Given the description of an element on the screen output the (x, y) to click on. 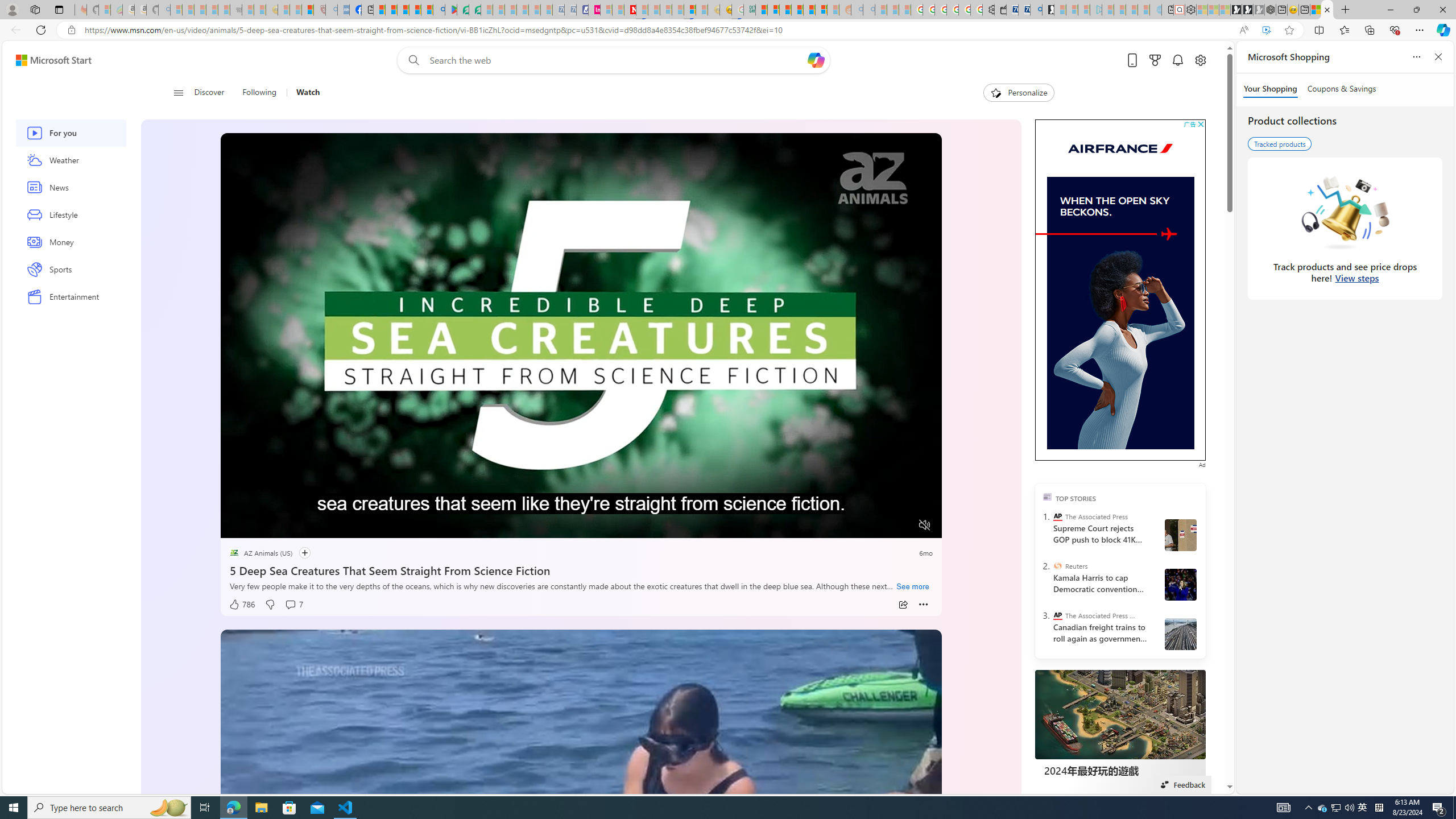
Terms of Use Agreement (462, 9)
The Associated Press - Business News (1057, 614)
Local - MSN (307, 9)
Cheap Hotels - Save70.com - Sleeping (569, 9)
14 Common Myths Debunked By Scientific Facts - Sleeping (654, 9)
Watch (307, 92)
Microsoft account | Privacy - Sleeping (1083, 9)
Wildlife - MSN (1315, 9)
Share (902, 604)
